Given the description of an element on the screen output the (x, y) to click on. 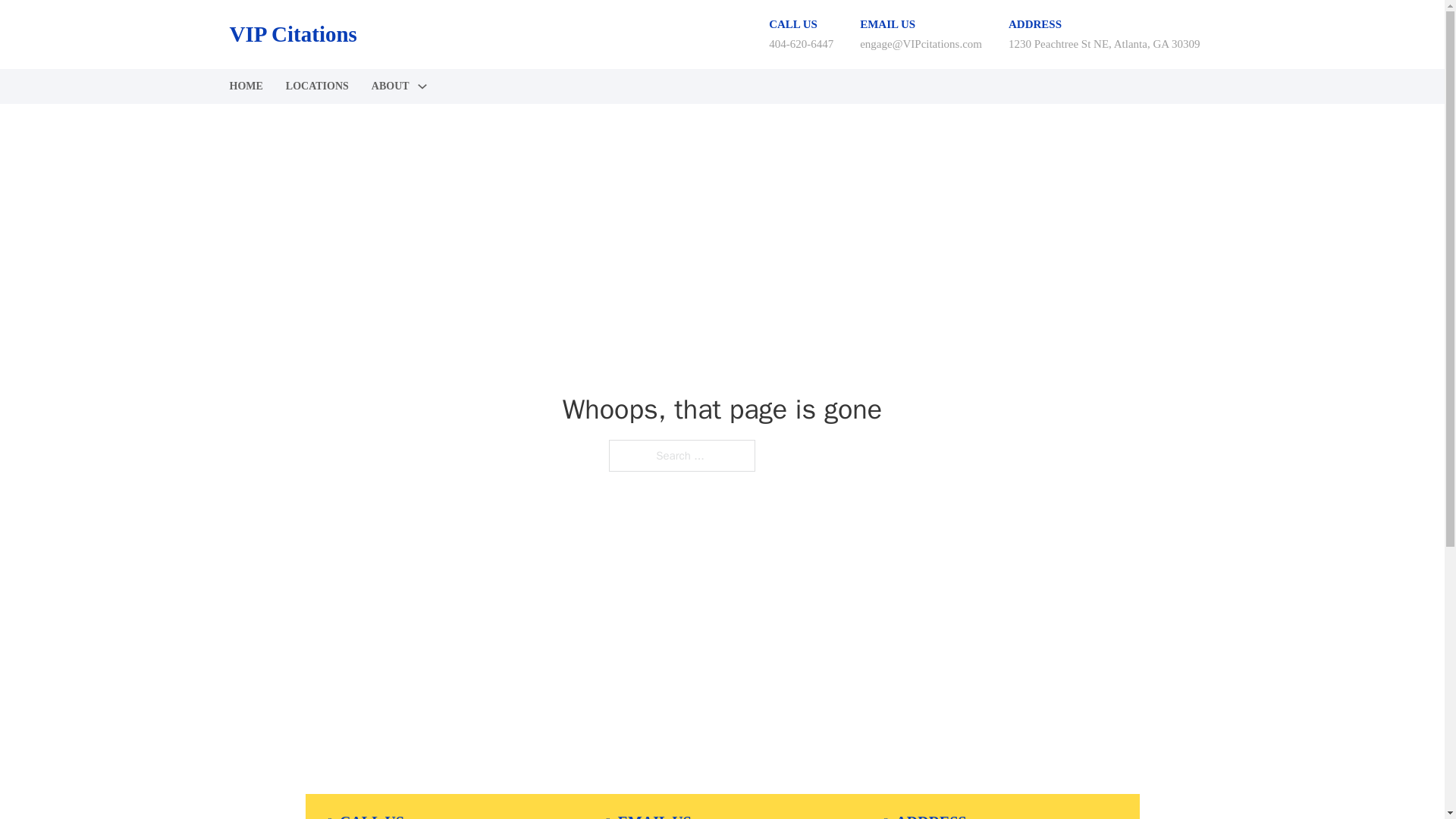
404-620-6447 (800, 43)
HOME (245, 85)
VIP Citations (292, 34)
LOCATIONS (317, 85)
